Given the description of an element on the screen output the (x, y) to click on. 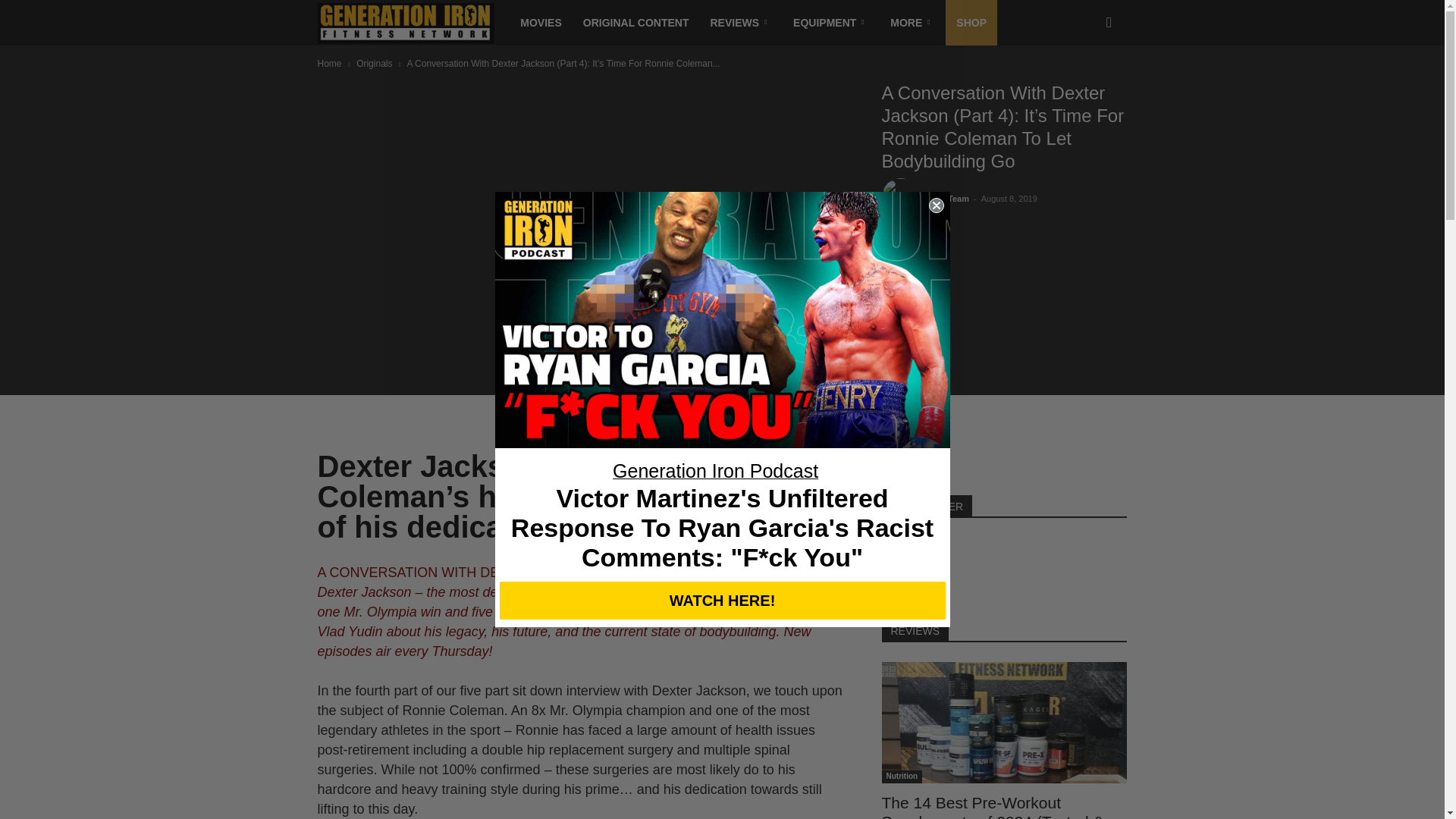
View all posts in Originals (373, 63)
Generation Iron Fitness Network (406, 22)
